Given the description of an element on the screen output the (x, y) to click on. 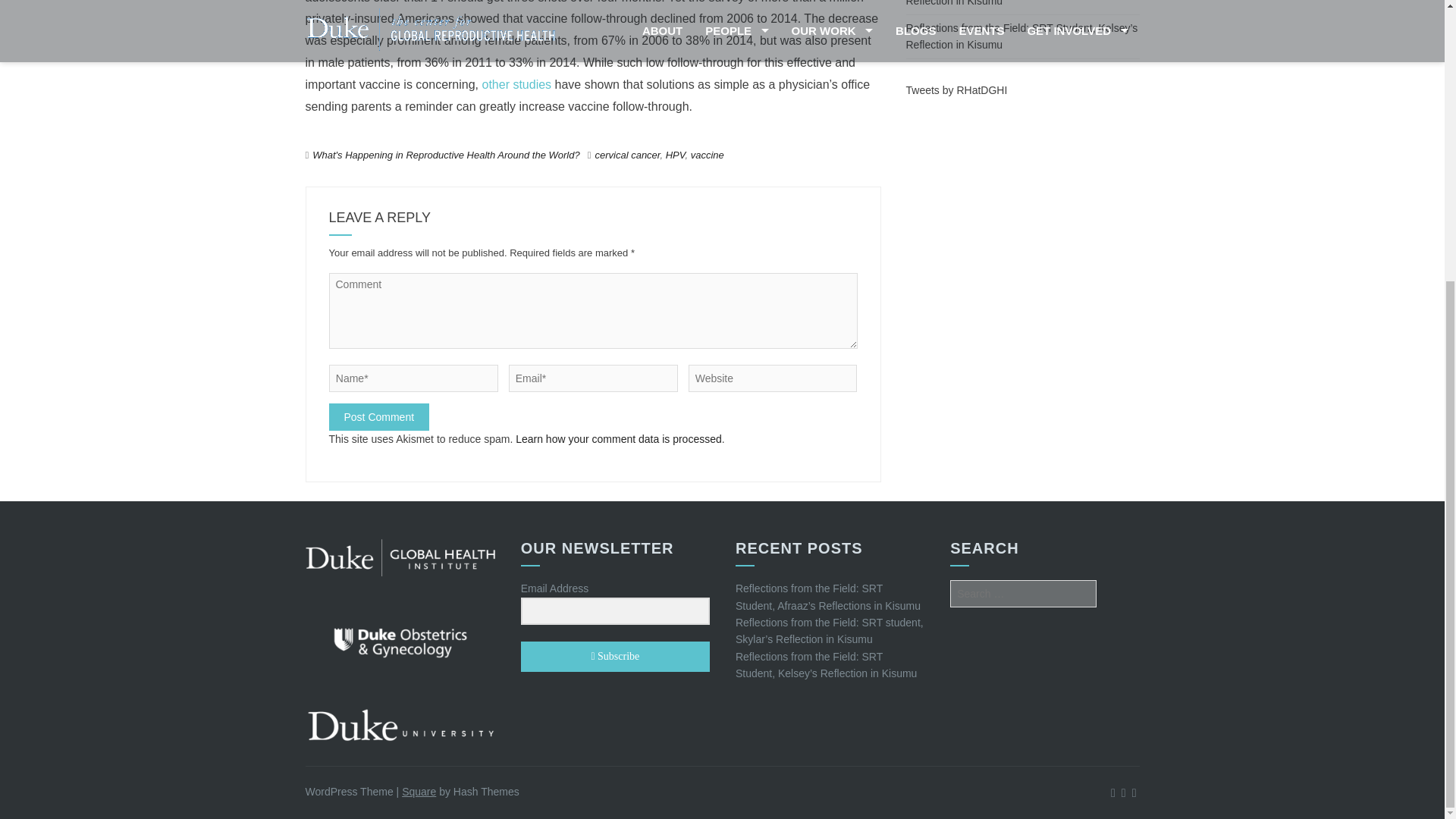
cervical cancer (626, 154)
What's Happening in Reproductive Health Around the World? (446, 154)
vaccine (706, 154)
HPV (675, 154)
Learn how your comment data is processed (618, 439)
Post Comment (379, 416)
Post Comment (379, 416)
other studies (516, 83)
Tweets by RHatDGHI (956, 90)
